Given the description of an element on the screen output the (x, y) to click on. 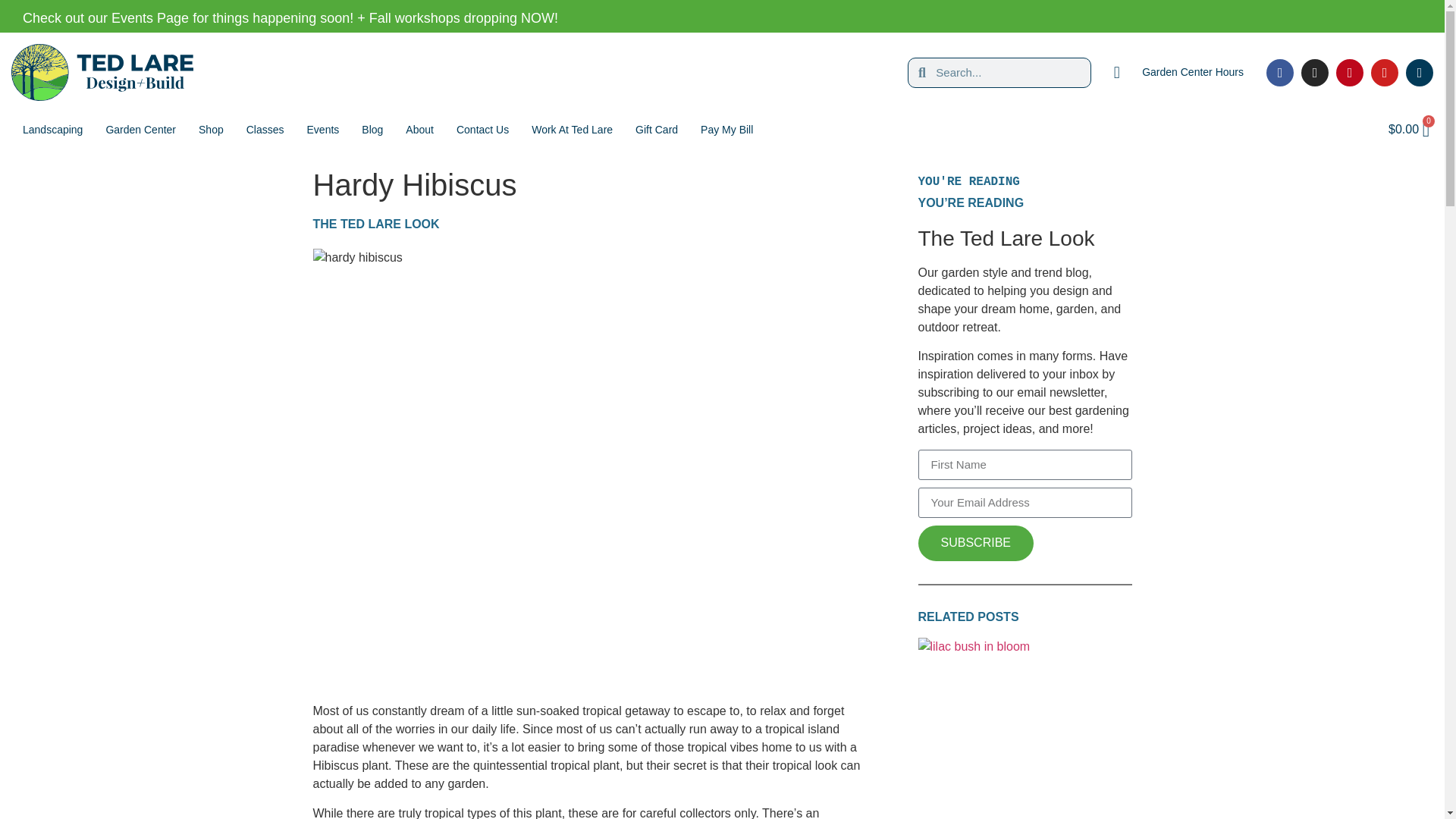
Blog (372, 129)
Landscaping (52, 129)
Garden Center (140, 129)
Classes (264, 129)
Garden Center Hours (1178, 72)
Shop (210, 129)
Events (322, 129)
